Given the description of an element on the screen output the (x, y) to click on. 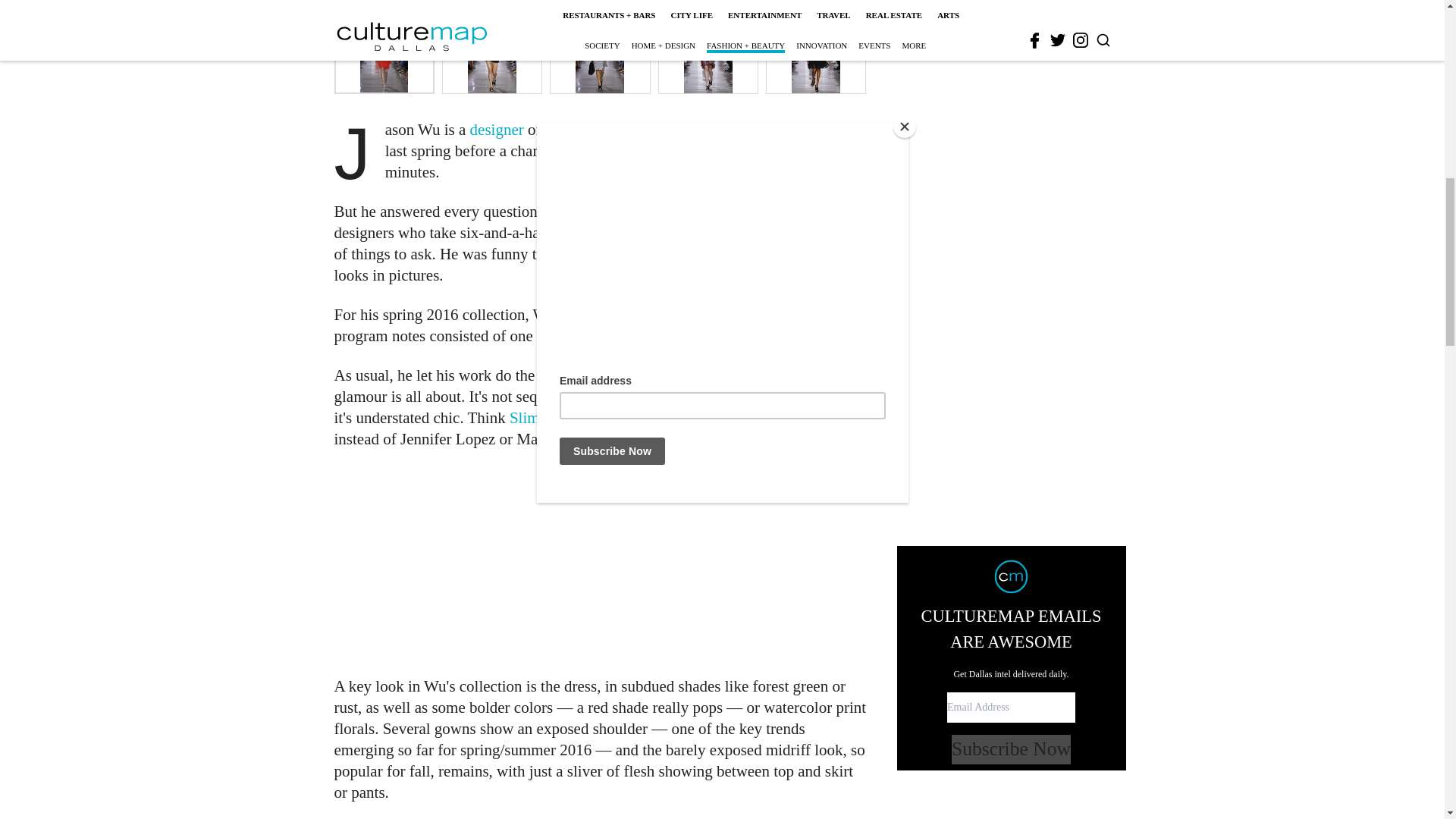
Subscribe Now (1011, 296)
3rd party ad content (600, 562)
3rd party ad content (1011, 31)
